Given the description of an element on the screen output the (x, y) to click on. 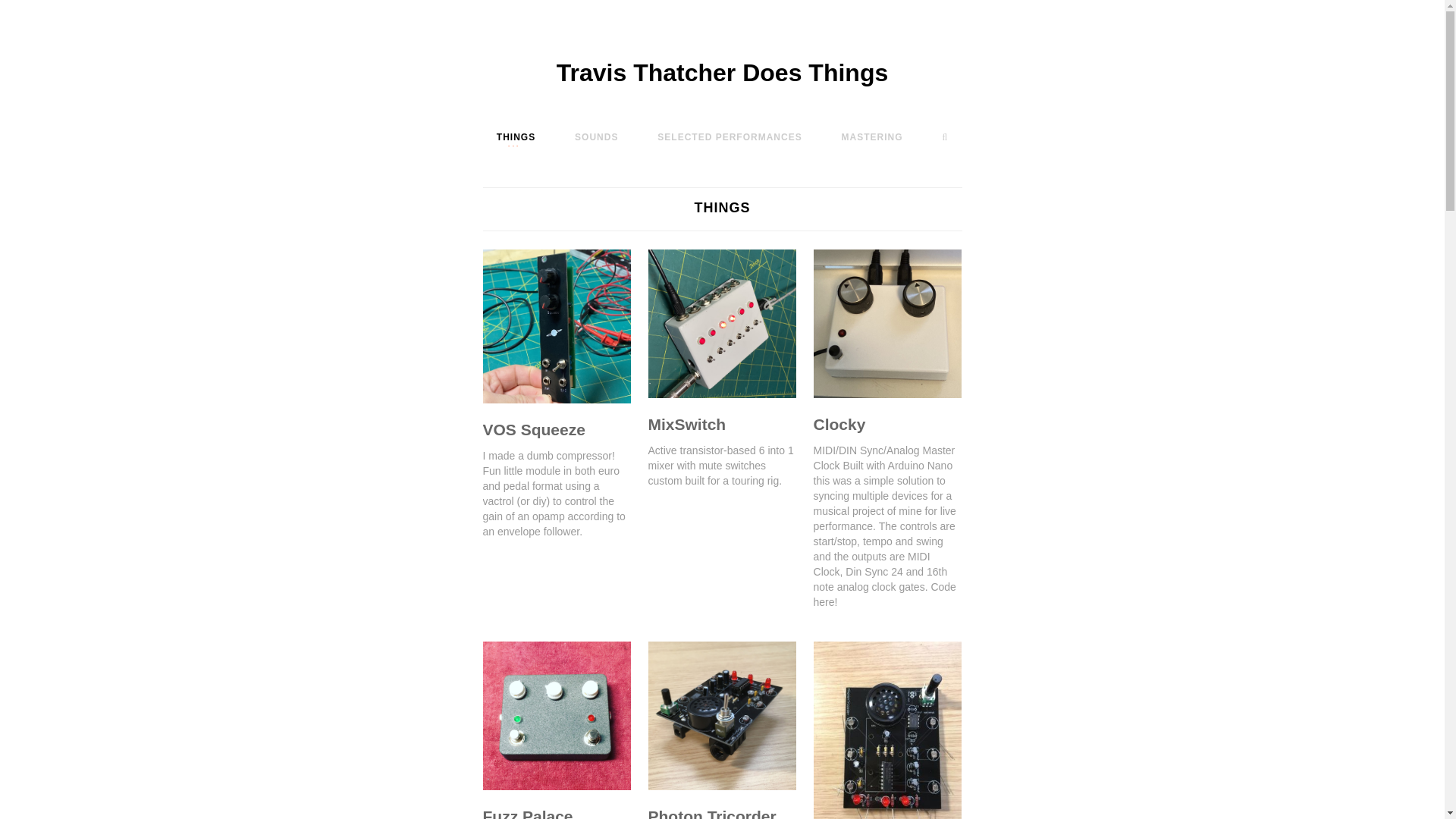
THINGS (516, 136)
Fuzz Palace (526, 813)
Clocky (839, 424)
Fuzz Palace (526, 813)
MixSwitch (686, 424)
VOS Squeeze (533, 429)
Travis Thatcher Does Things (722, 72)
SOUNDS (596, 136)
SELECTED PERFORMANCES (729, 136)
Photon Tricorder V1.3 (711, 813)
